Given the description of an element on the screen output the (x, y) to click on. 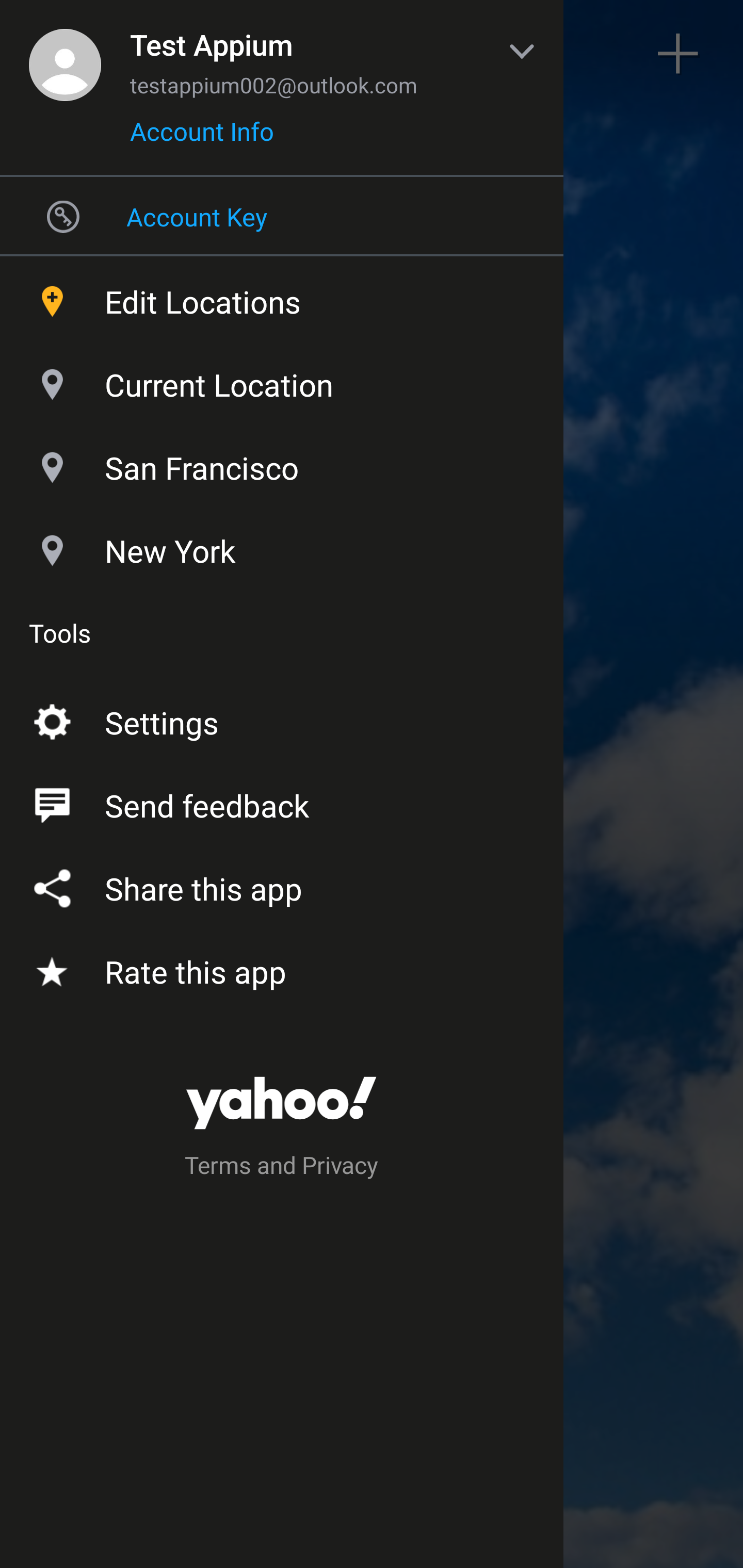
Sidebar (64, 54)
Account Info (202, 137)
Account Key (281, 216)
Edit Locations (281, 296)
Current Location (281, 379)
San Francisco (281, 462)
New York (281, 546)
Settings (281, 718)
Send feedback (281, 801)
Share this app (281, 884)
Terms and Privacy Terms and privacy button (281, 1168)
